Given the description of an element on the screen output the (x, y) to click on. 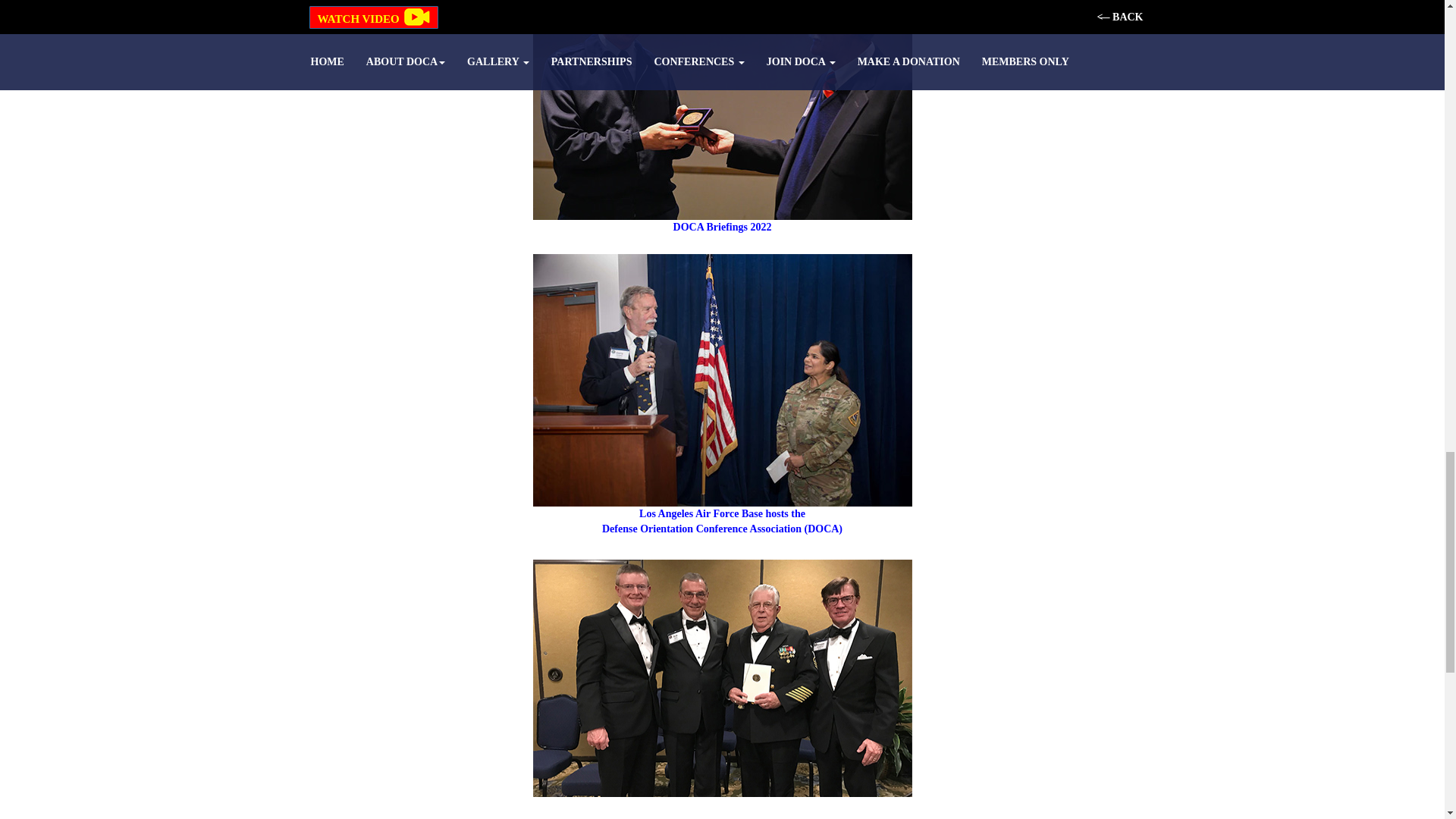
DOCA Briefings 2022 (721, 159)
